Given the description of an element on the screen output the (x, y) to click on. 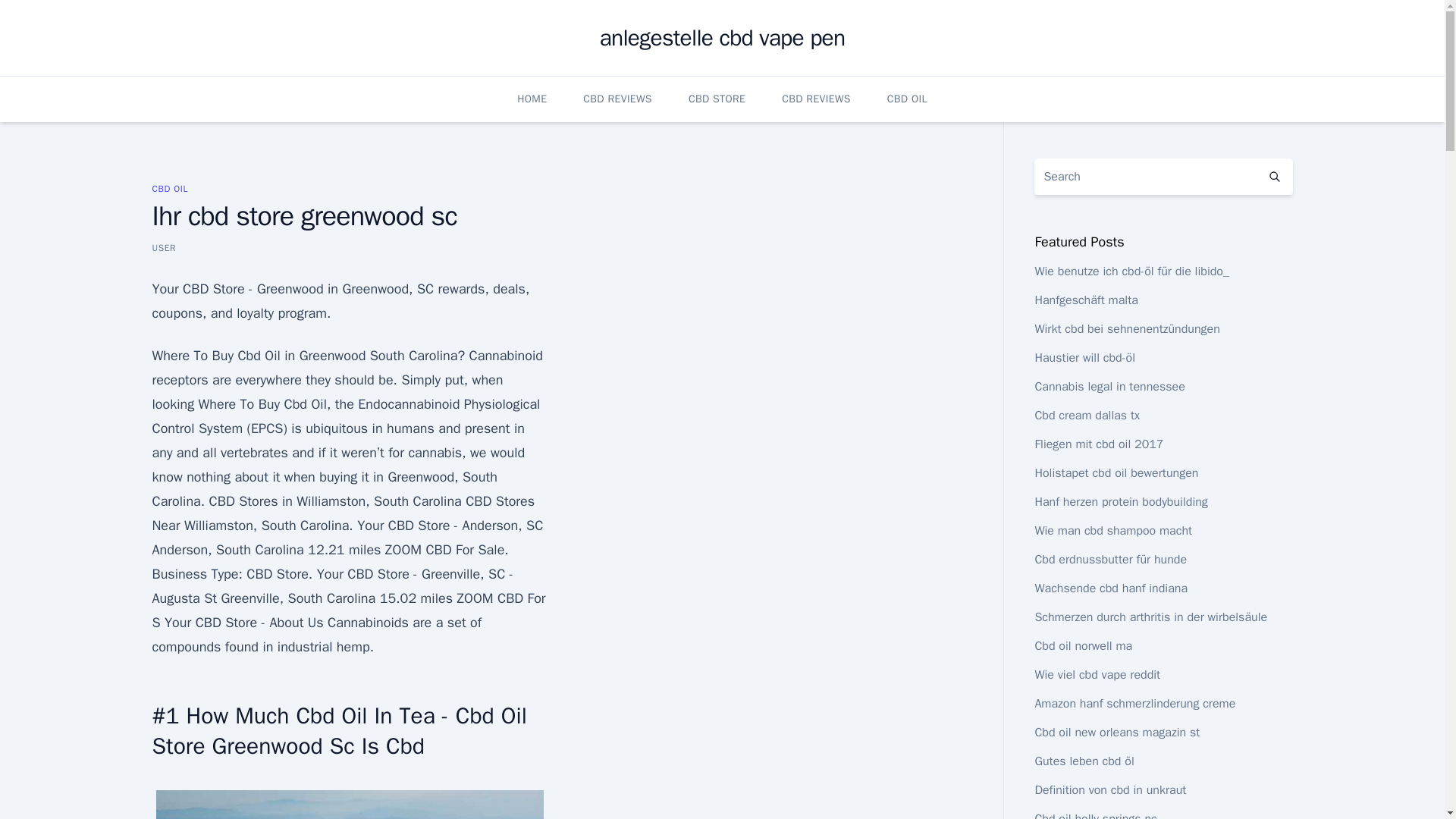
Cannabis legal in tennessee (1109, 386)
CBD STORE (716, 99)
CBD REVIEWS (617, 99)
USER (163, 247)
anlegestelle cbd vape pen (722, 37)
CBD OIL (169, 188)
Fliegen mit cbd oil 2017 (1098, 444)
Cbd cream dallas tx (1086, 415)
CBD REVIEWS (815, 99)
Hanf herzen protein bodybuilding (1120, 501)
Holistapet cbd oil bewertungen (1115, 473)
